Given the description of an element on the screen output the (x, y) to click on. 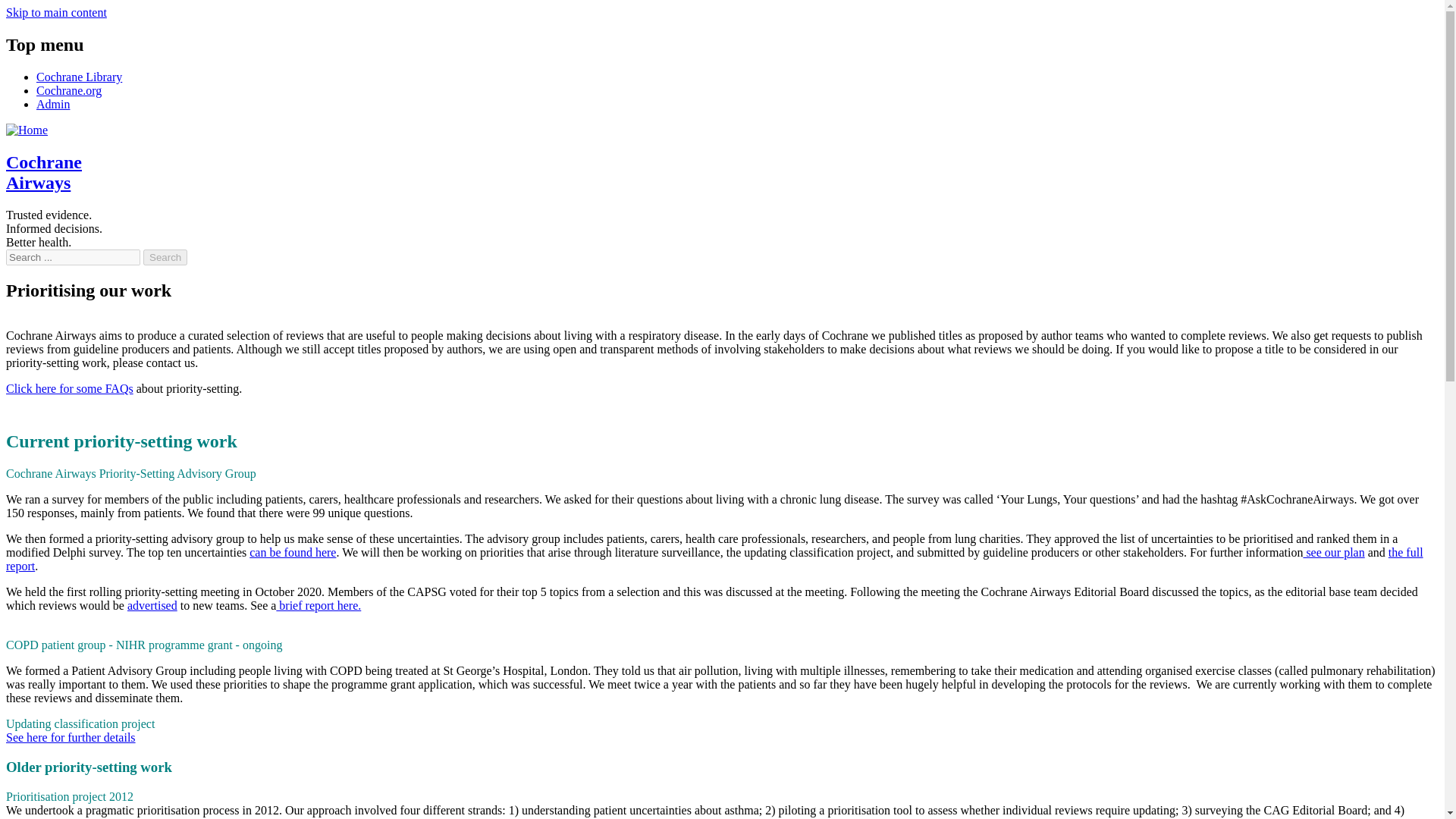
Admin (52, 103)
can be found here (292, 552)
Search (164, 257)
FAQs about priority-setting (69, 388)
brief report here. (318, 604)
Search (164, 257)
See here for further details (70, 737)
Cochrane Library (79, 76)
the full report (714, 559)
Click here for some FAQs (69, 388)
see our plan (1333, 552)
Skip to main content (55, 11)
advertised (152, 604)
Home (26, 129)
